Given the description of an element on the screen output the (x, y) to click on. 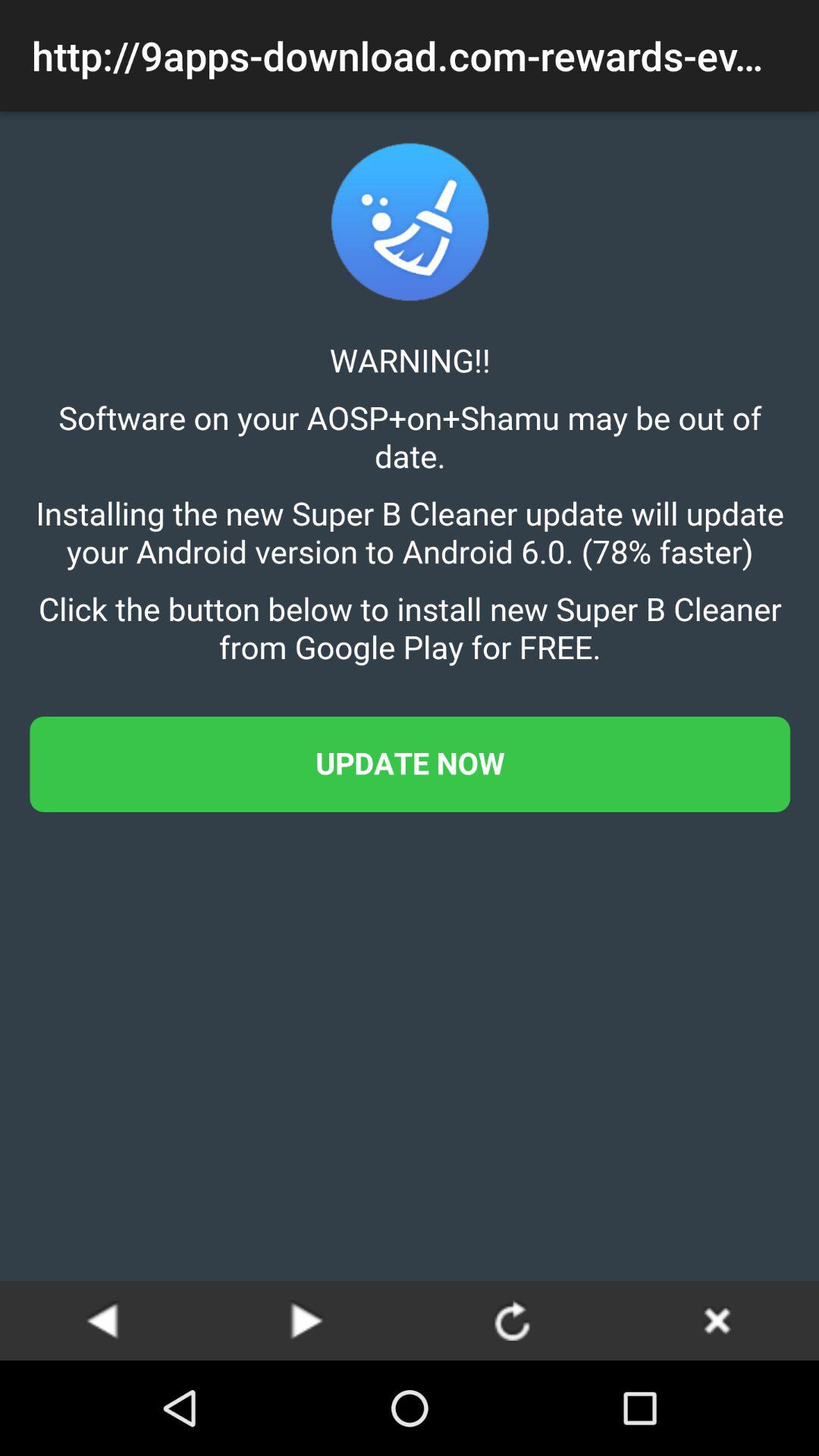
click arrow button (511, 1320)
